Given the description of an element on the screen output the (x, y) to click on. 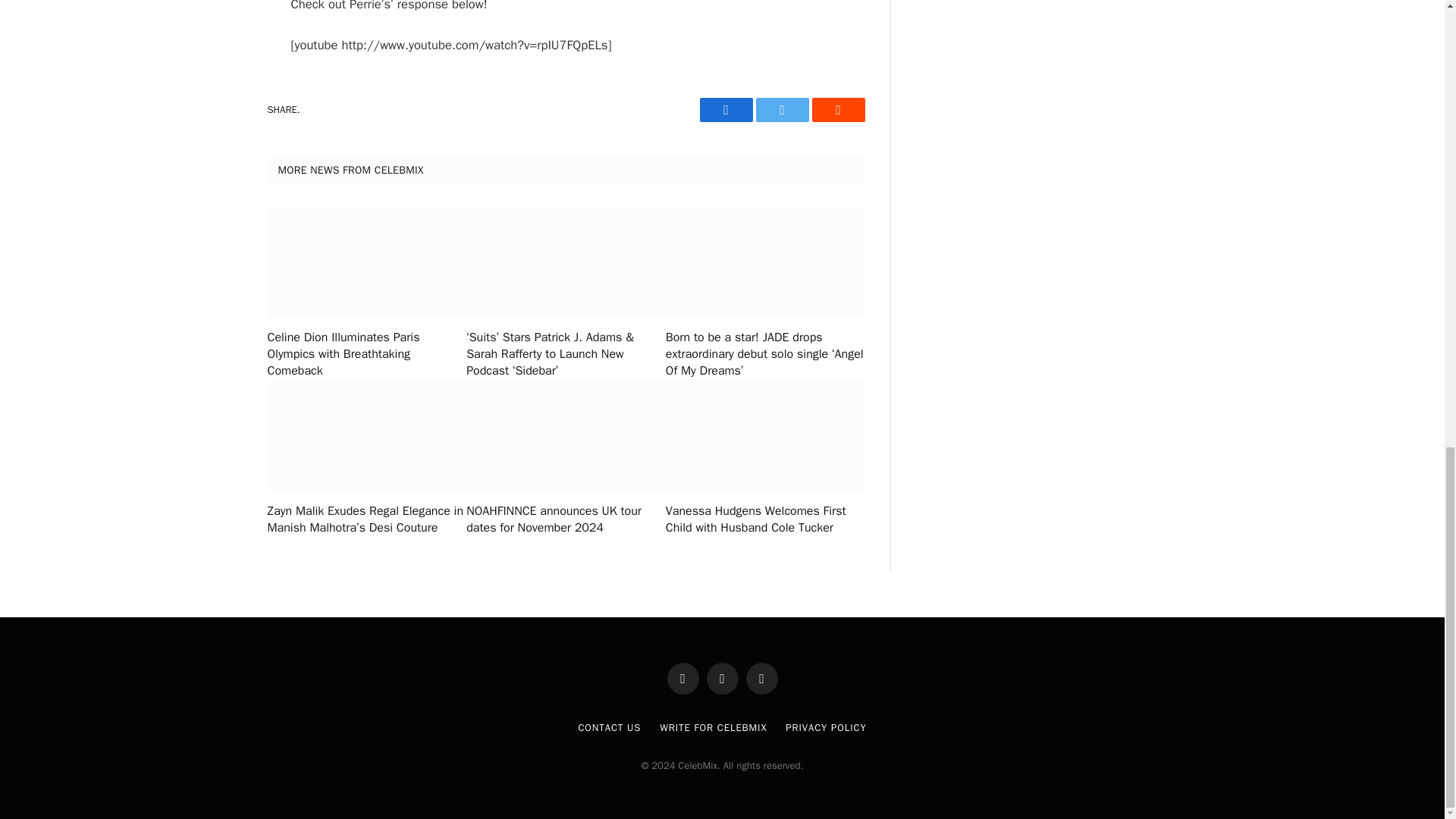
Facebook (725, 109)
Twitter (781, 109)
Reddit (837, 109)
Share on Facebook (725, 109)
NOAHFINNCE announces UK tour dates for November 2024 (565, 520)
